Given the description of an element on the screen output the (x, y) to click on. 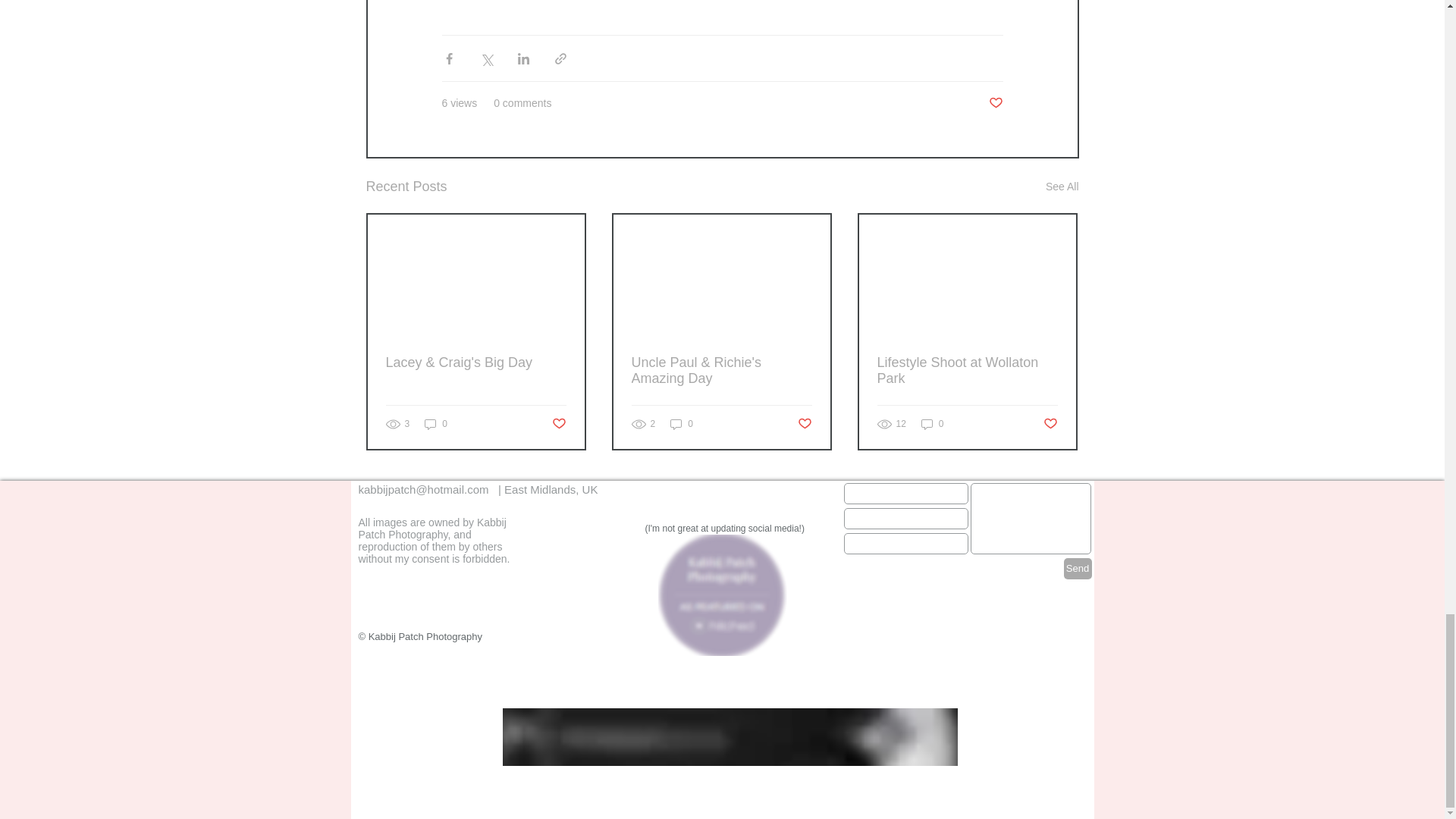
0 (435, 423)
Lifestyle Shoot at Wollaton Park (966, 370)
Post not marked as liked (995, 103)
0 (932, 423)
Post not marked as liked (558, 424)
Hitched.png (722, 595)
0 (681, 423)
Post not marked as liked (1050, 424)
See All (1061, 187)
Post not marked as liked (804, 424)
Send (1076, 568)
